Given the description of an element on the screen output the (x, y) to click on. 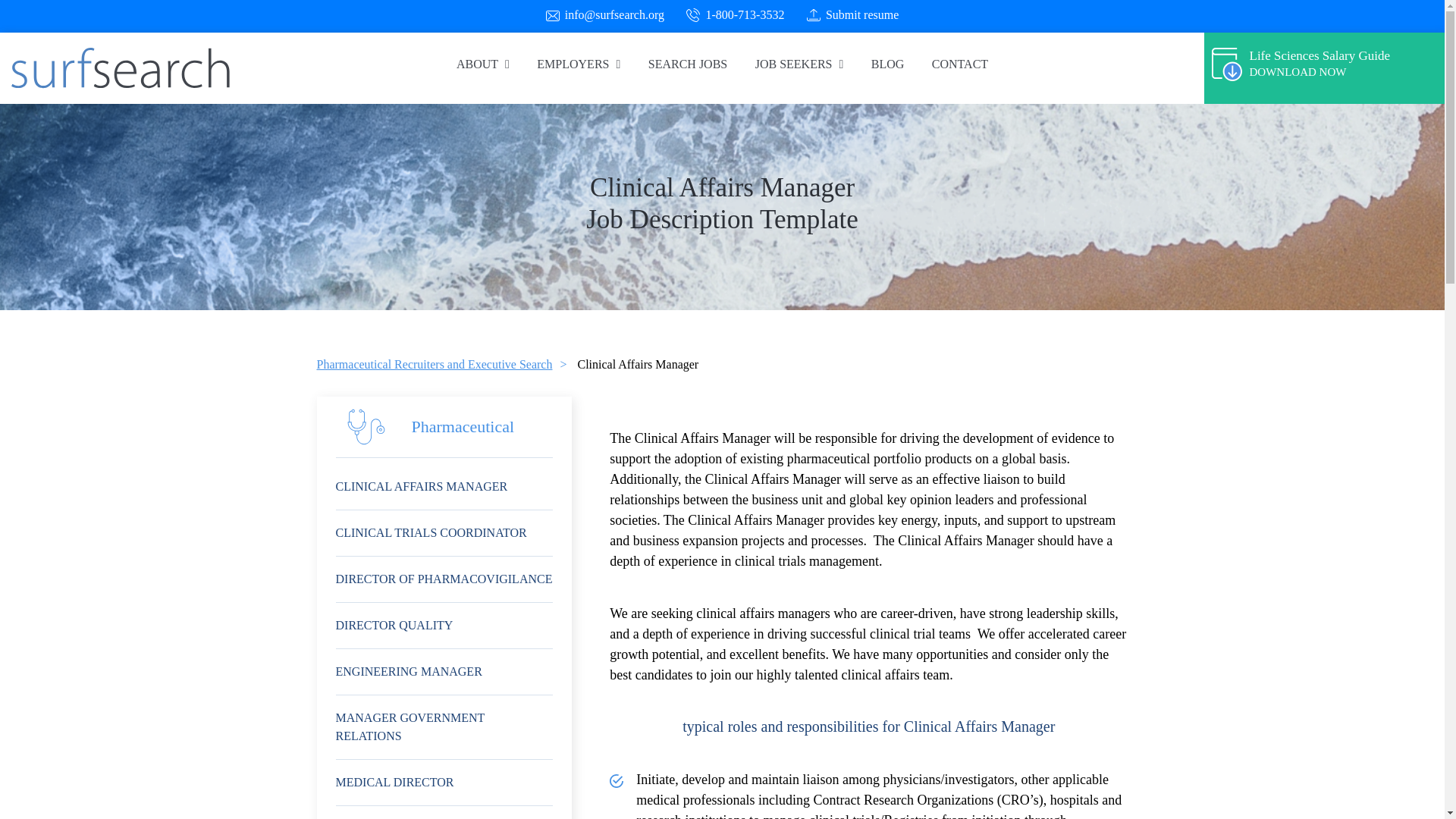
ABOUT (482, 64)
SEARCH JOBS (687, 64)
JOB SEEKERS (799, 64)
BLOG (888, 64)
Pharmaceutical Recruiters and Executive Search (435, 364)
EMPLOYERS (577, 64)
Submit resume (861, 15)
1-800-713-3532 (744, 15)
CLINICAL AFFAIRS MANAGER (443, 487)
CONTACT (960, 64)
